Given the description of an element on the screen output the (x, y) to click on. 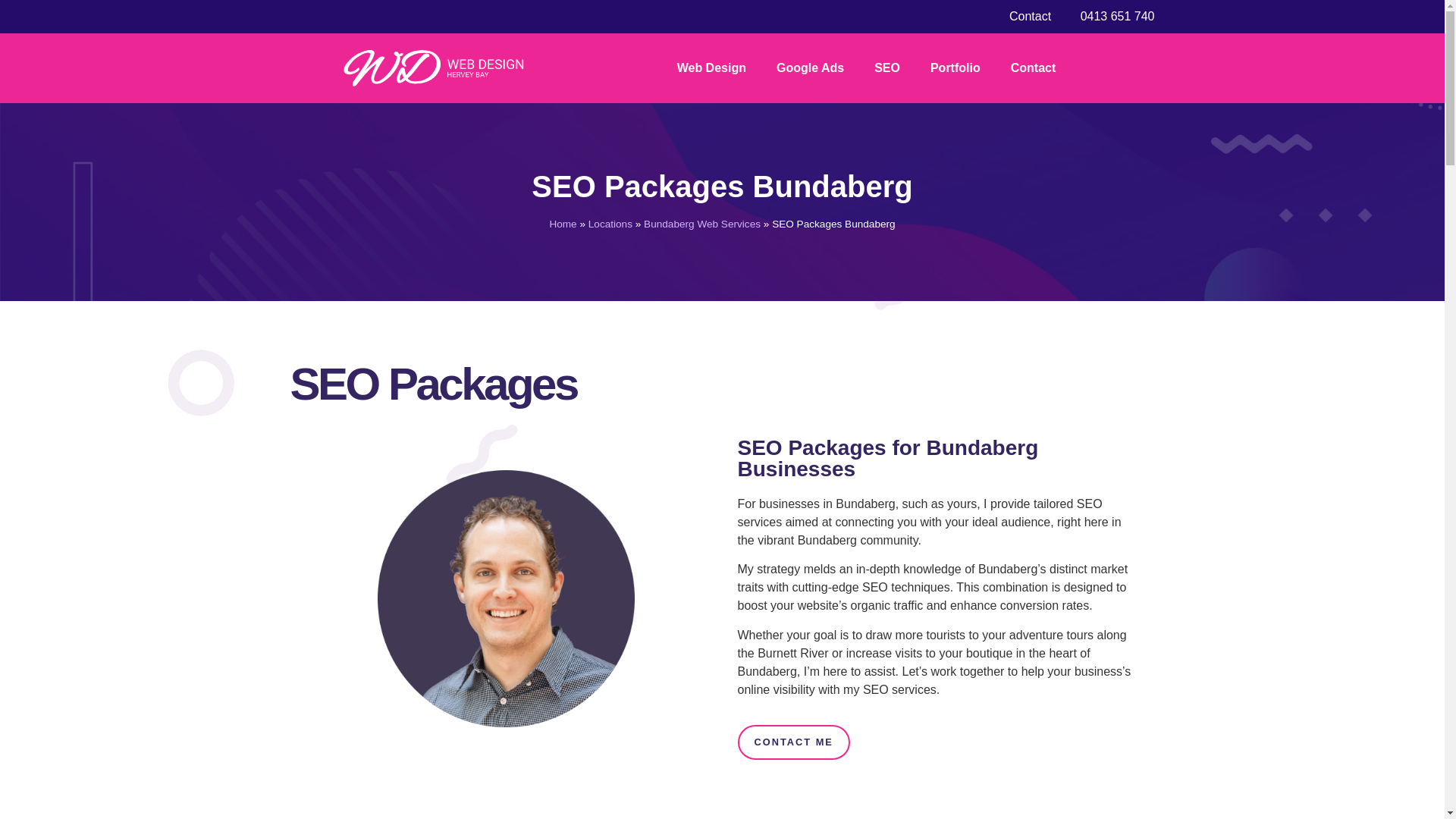
Google Ads (810, 67)
0413 651 740 (1108, 16)
Contact (1021, 16)
SEO (887, 67)
Bundaberg Web Services (701, 224)
Portfolio (955, 67)
SEO Packages Bundaberg (722, 186)
CONTACT ME (792, 742)
Locations (609, 224)
Contact (1033, 67)
Web Design (711, 67)
Home (562, 224)
